Given the description of an element on the screen output the (x, y) to click on. 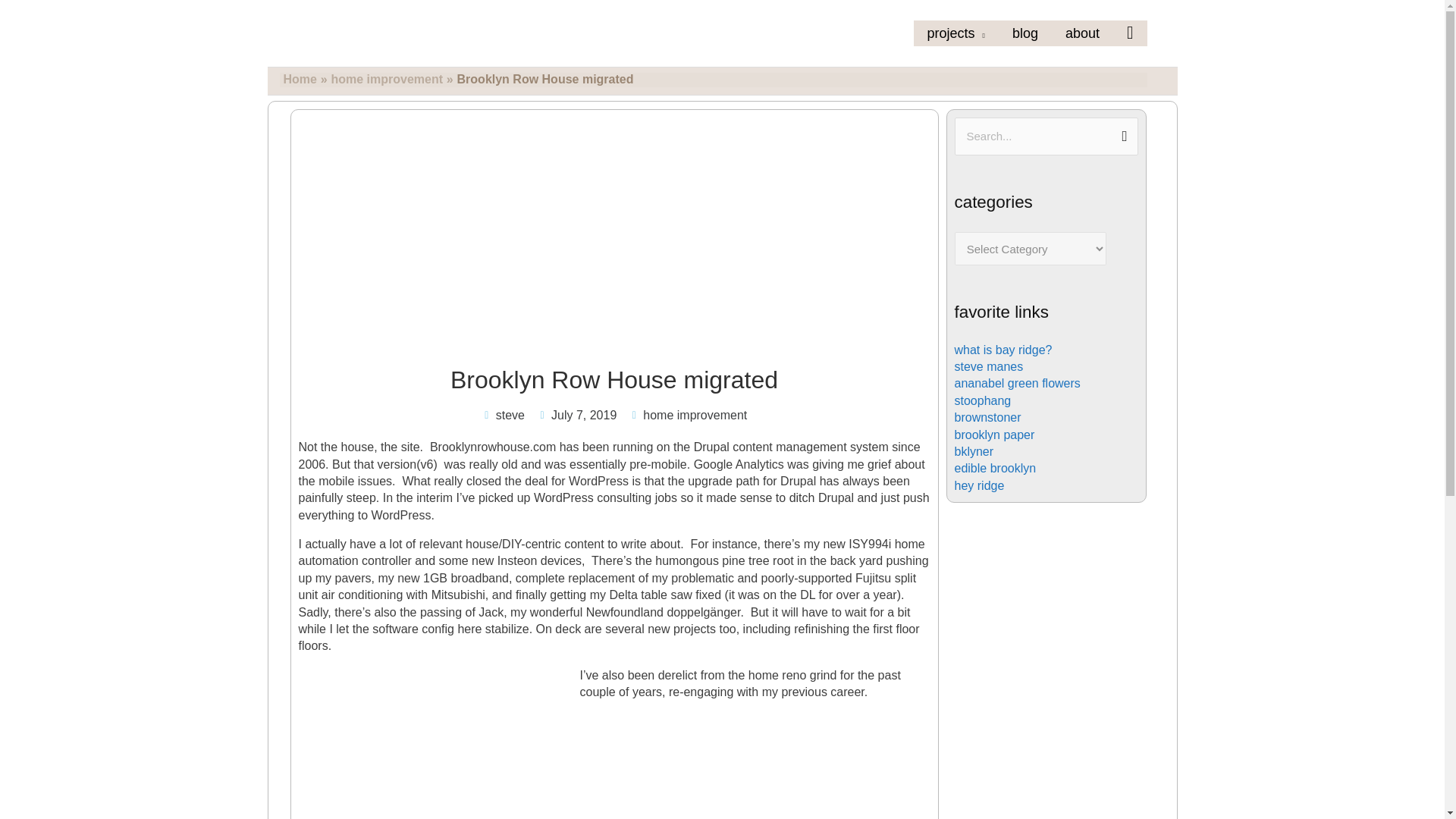
brooklyn paper (993, 434)
July 7, 2019 (576, 415)
hey ridge (978, 485)
ananabel green flowers (1016, 382)
steve (502, 415)
blog (1024, 32)
home improvement (386, 78)
about (1082, 32)
brownstoner (986, 417)
projects (956, 32)
